Given the description of an element on the screen output the (x, y) to click on. 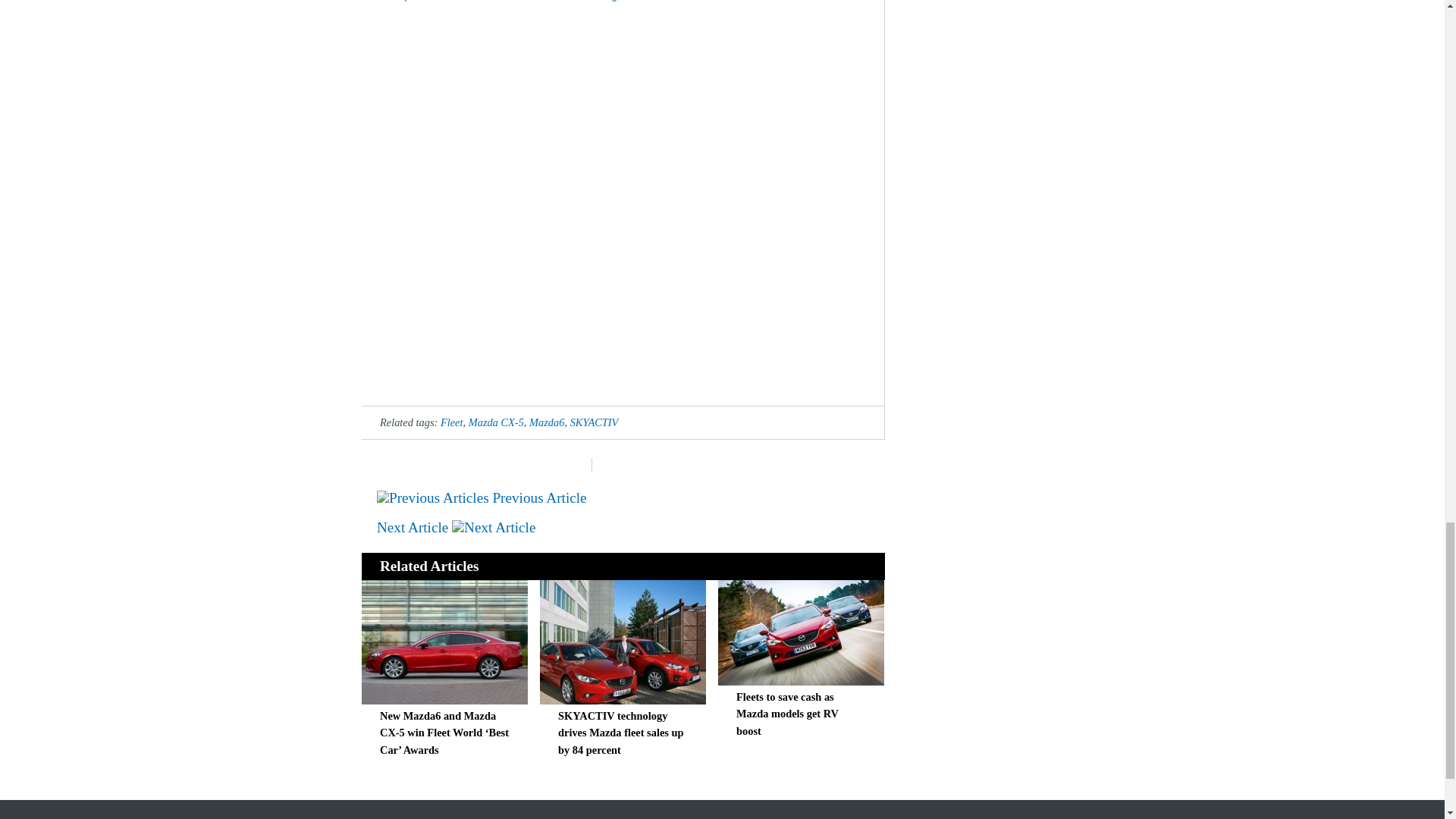
Mazda CX-5 (496, 422)
Fleets to save cash as Mazda models get RV boost (800, 680)
Mazda6 (546, 422)
Fleets to save cash as Mazda models get RV boost (787, 714)
Fleet (452, 422)
